Given the description of an element on the screen output the (x, y) to click on. 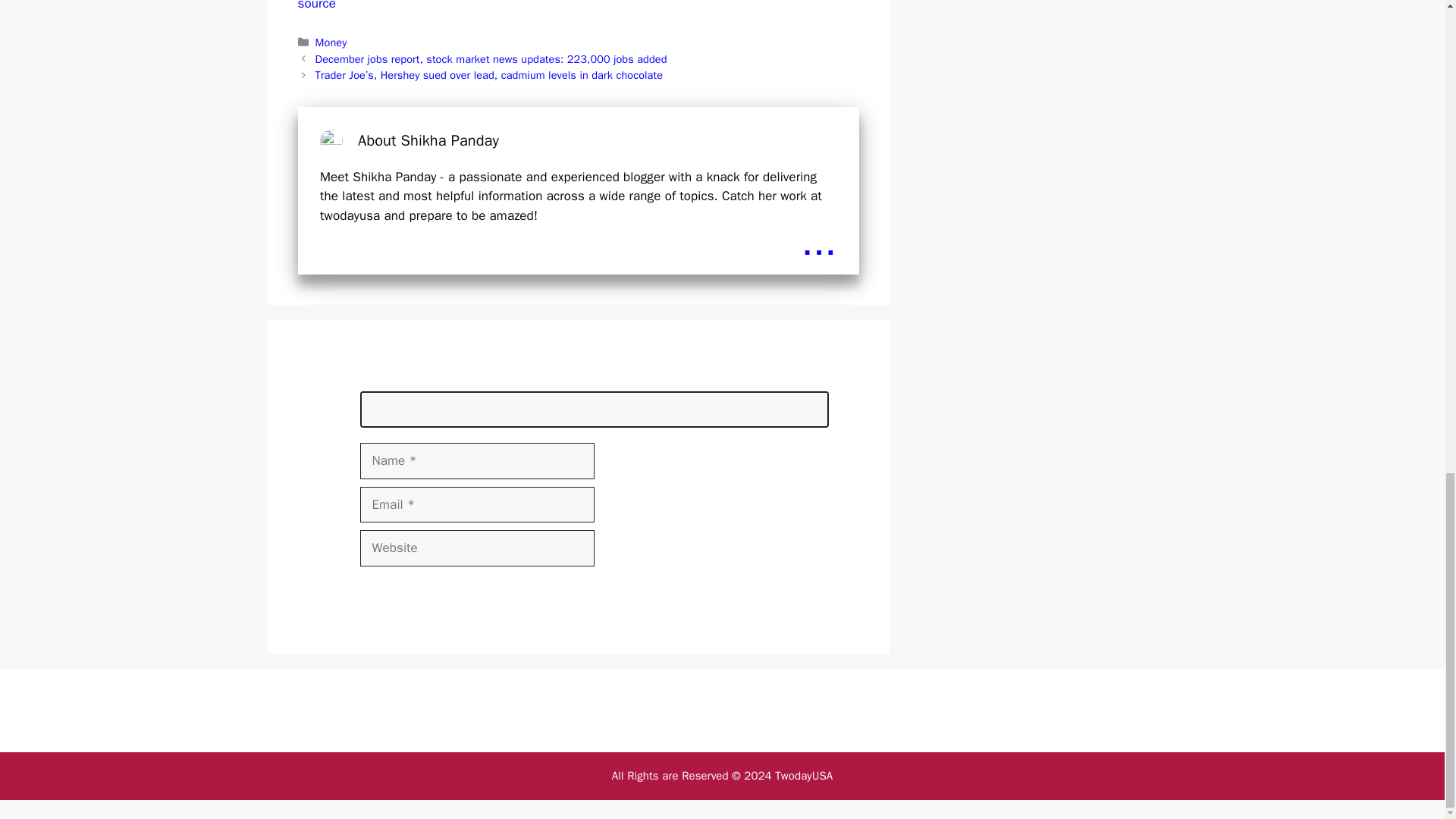
source (315, 5)
TwodayUSA (803, 775)
Read more (818, 242)
... (818, 242)
Money (331, 42)
